Given the description of an element on the screen output the (x, y) to click on. 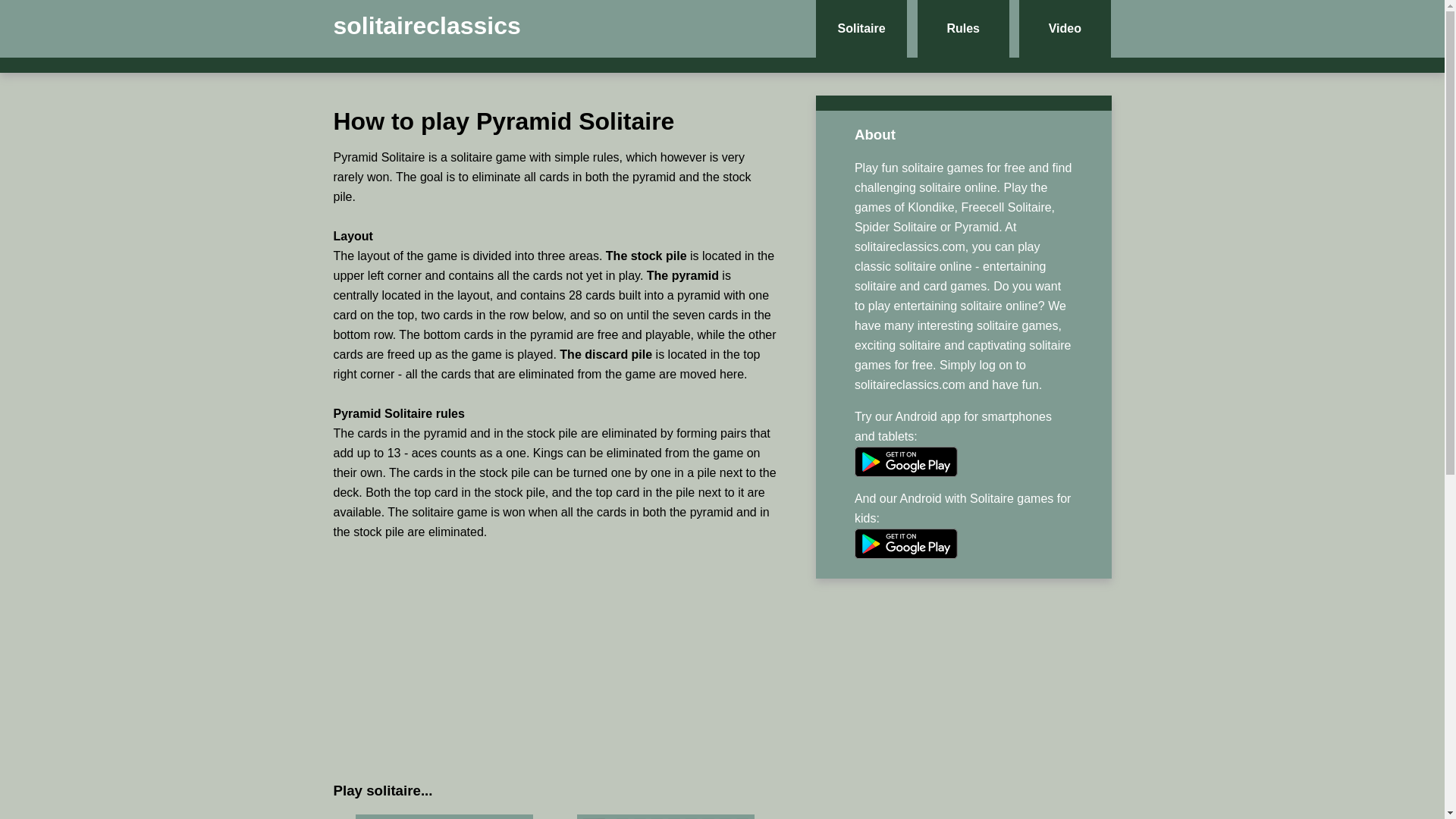
Advertisement (555, 660)
solitaireclassics (427, 25)
Rules (963, 28)
Video (1064, 28)
Solitaire (861, 28)
